Given the description of an element on the screen output the (x, y) to click on. 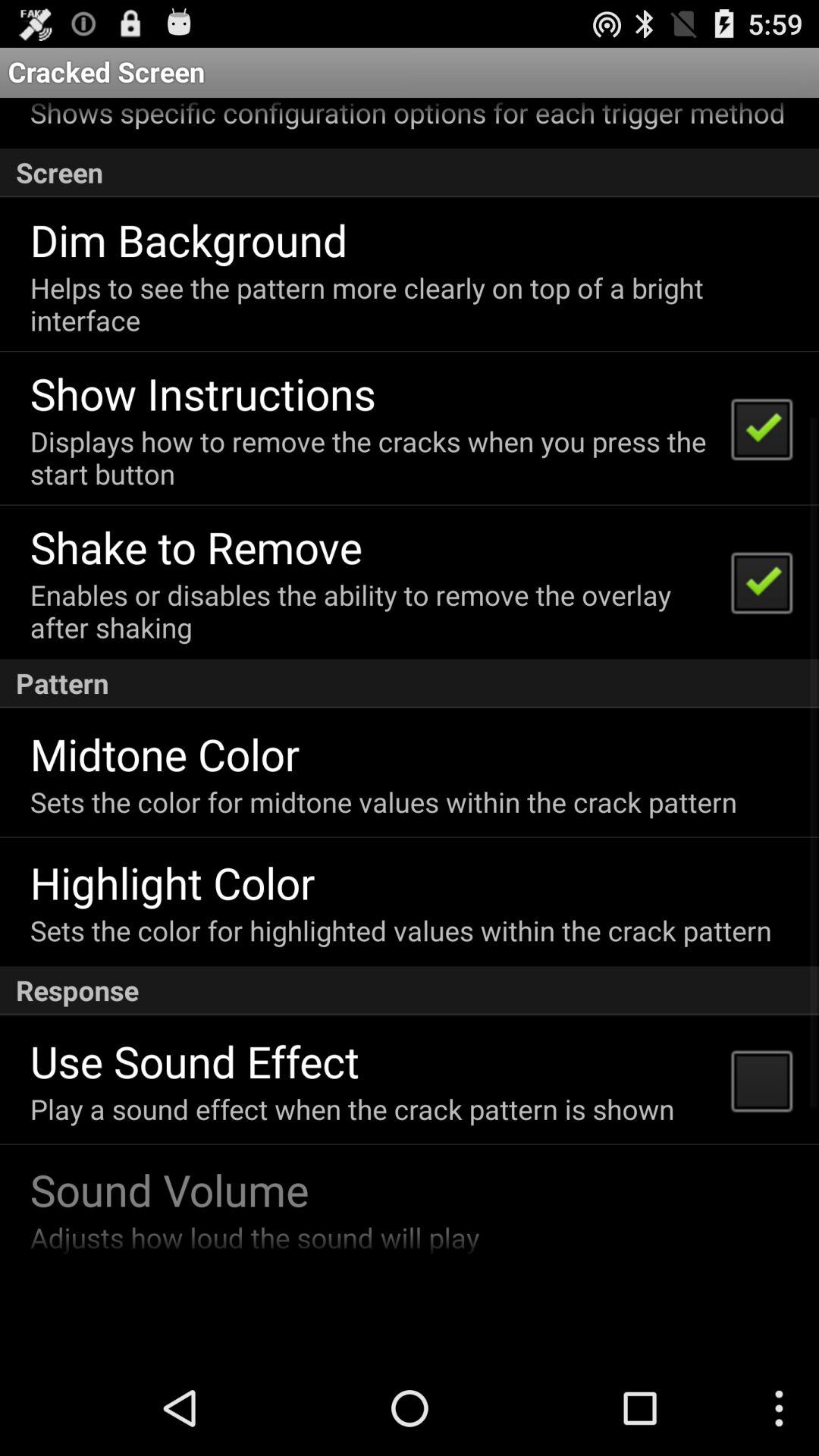
turn on the app above use sound effect item (409, 990)
